Given the description of an element on the screen output the (x, y) to click on. 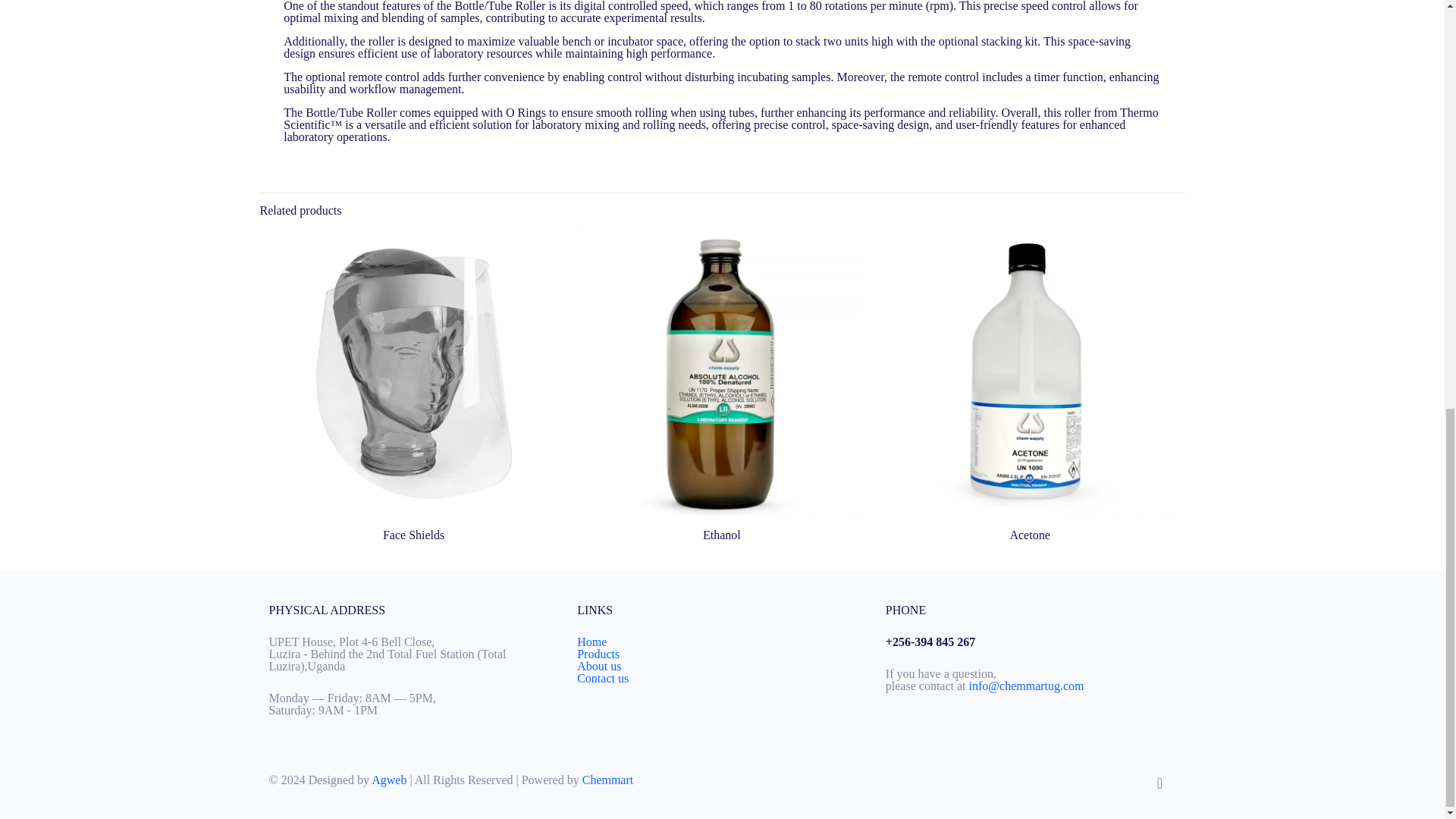
WhatsApp (1059, 779)
Facebook (1074, 779)
Instagram (1123, 779)
LinkedIn (1106, 779)
